Given the description of an element on the screen output the (x, y) to click on. 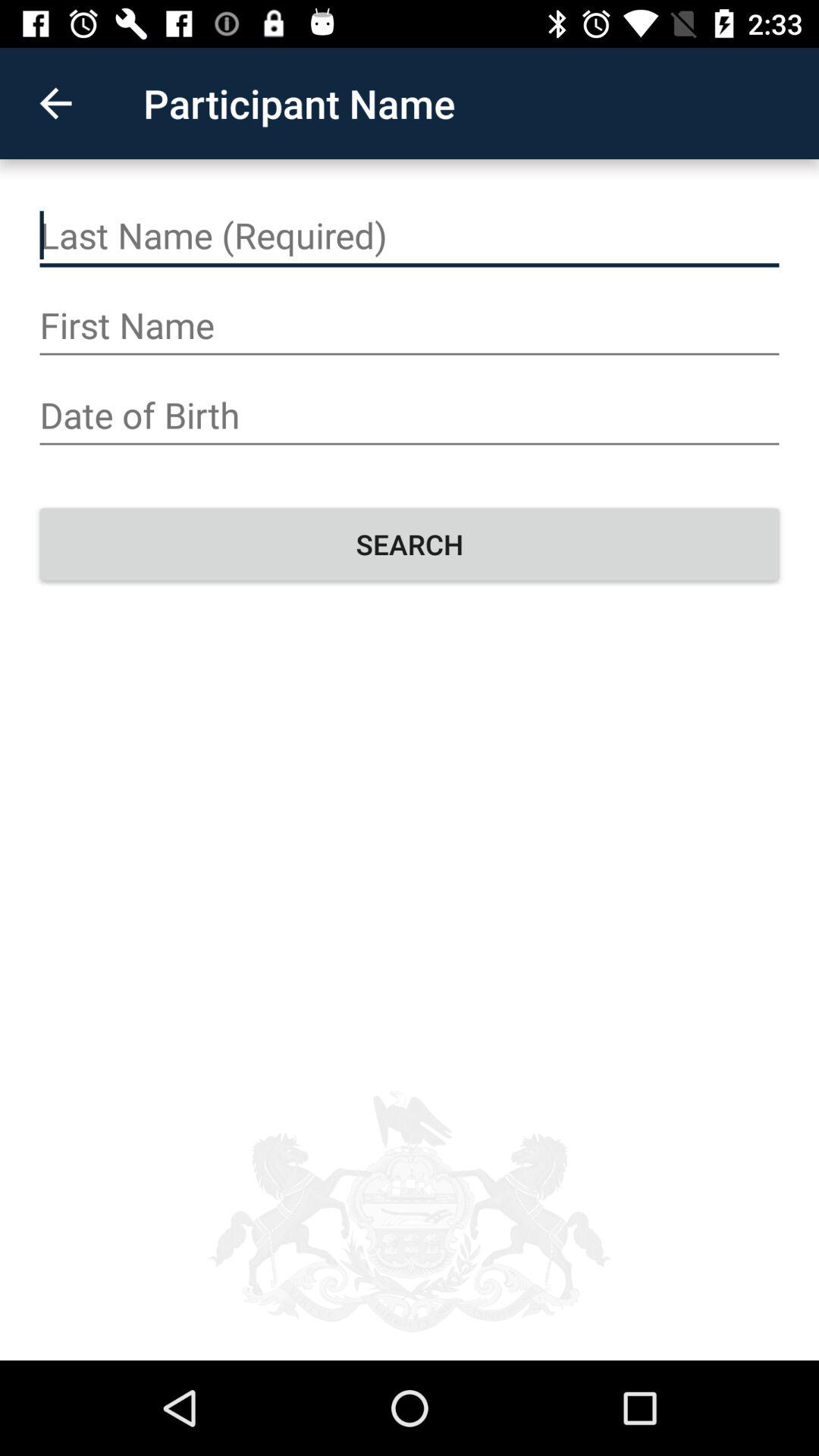
open the icon next to participant name icon (55, 103)
